Given the description of an element on the screen output the (x, y) to click on. 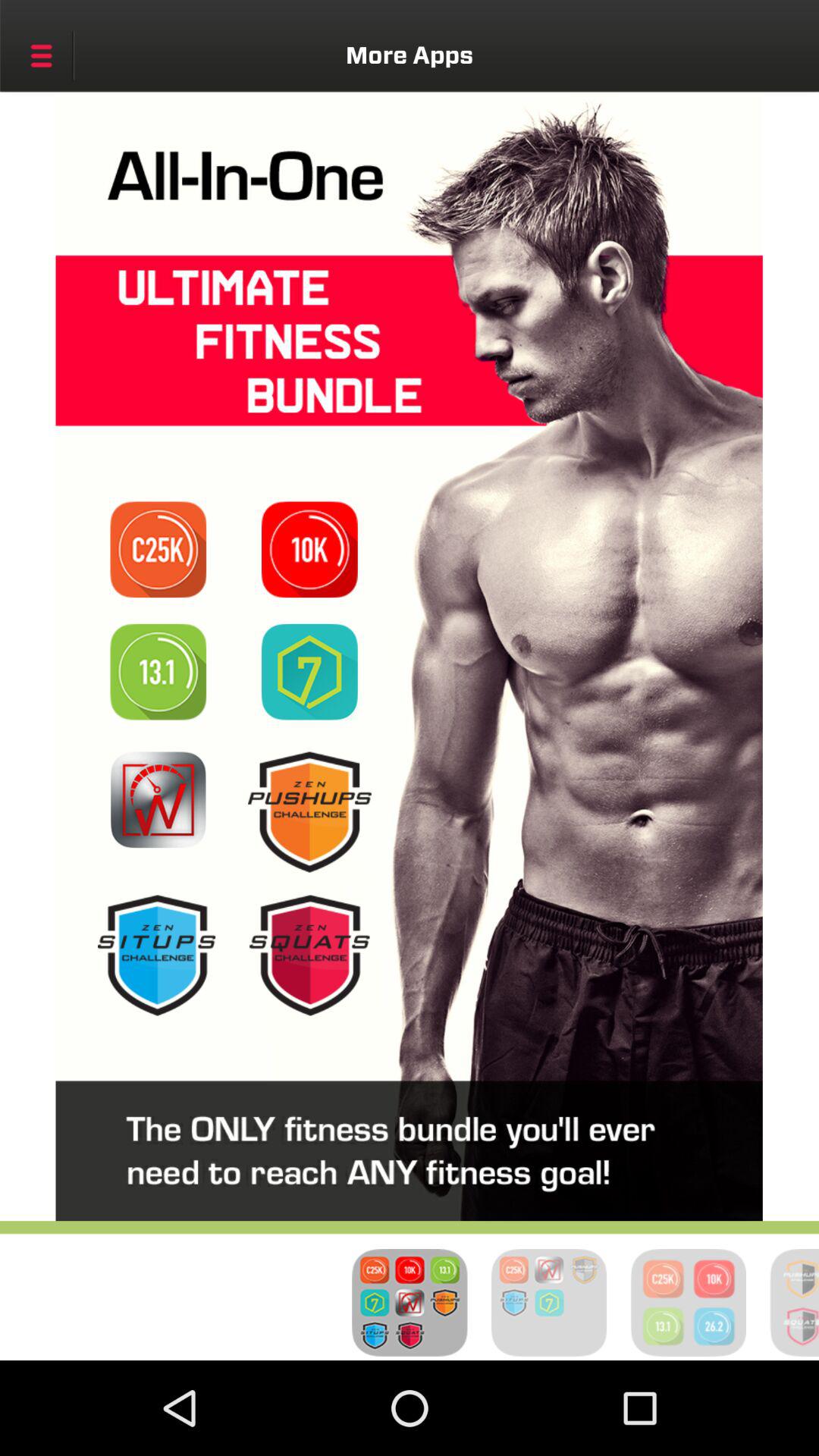
click icon at the top left corner (40, 55)
